Given the description of an element on the screen output the (x, y) to click on. 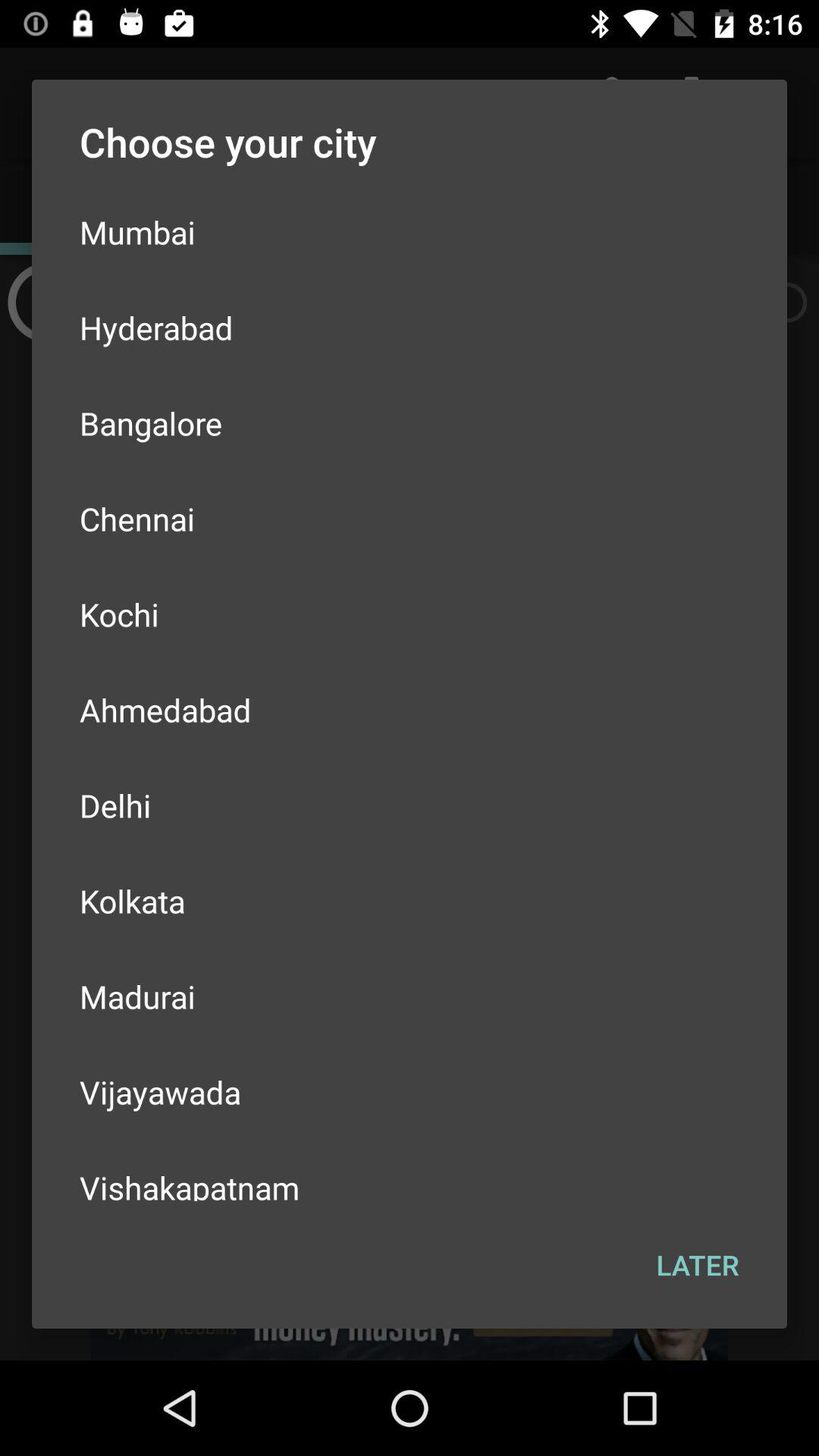
choose the item above the vishakapatnam (409, 1091)
